Given the description of an element on the screen output the (x, y) to click on. 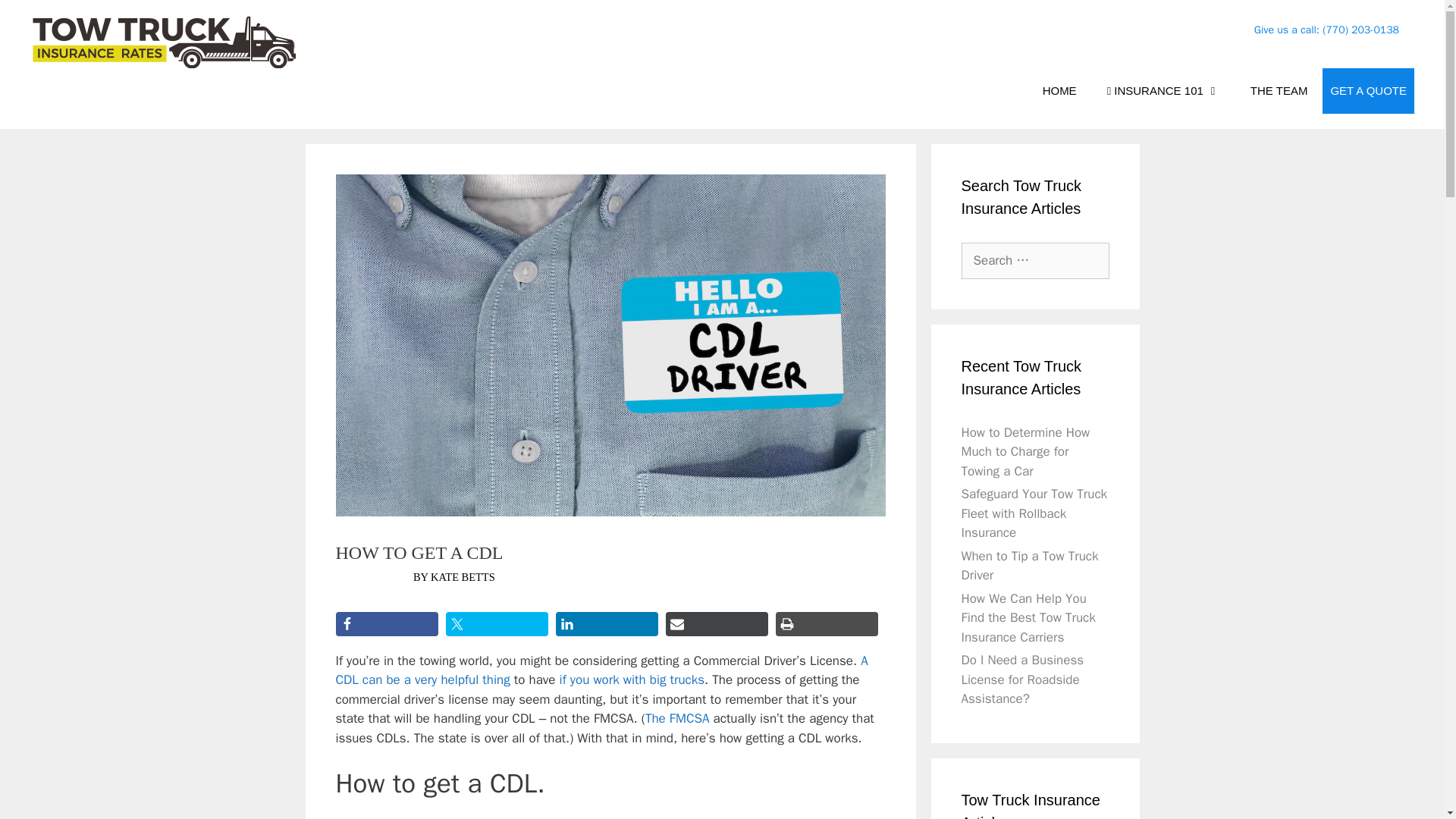
GET A QUOTE (1367, 90)
Share via Email (716, 623)
View all posts by Kate Betts (462, 576)
Share on Twitter (496, 623)
The FMCSA (677, 718)
if you work with big trucks (631, 679)
Share on Facebook (386, 623)
Print this Page (825, 623)
THE TEAM (1278, 90)
INSURANCE 101 (1163, 90)
A CDL can be a very helpful thing (600, 670)
HOME (1059, 90)
Share on LinkedIn (606, 623)
KATE BETTS (462, 576)
